Given the description of an element on the screen output the (x, y) to click on. 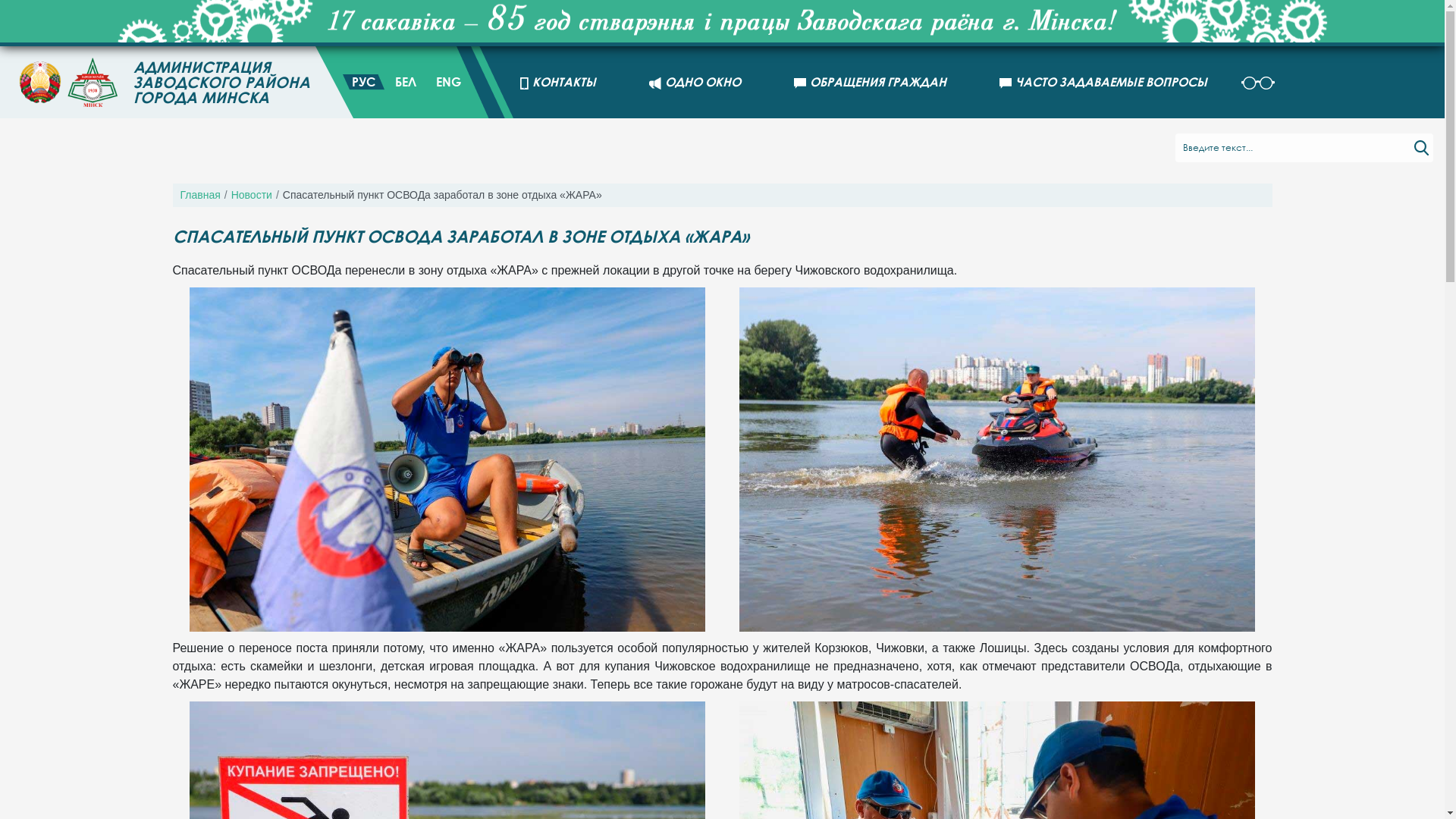
ENG Element type: text (448, 81)
